Given the description of an element on the screen output the (x, y) to click on. 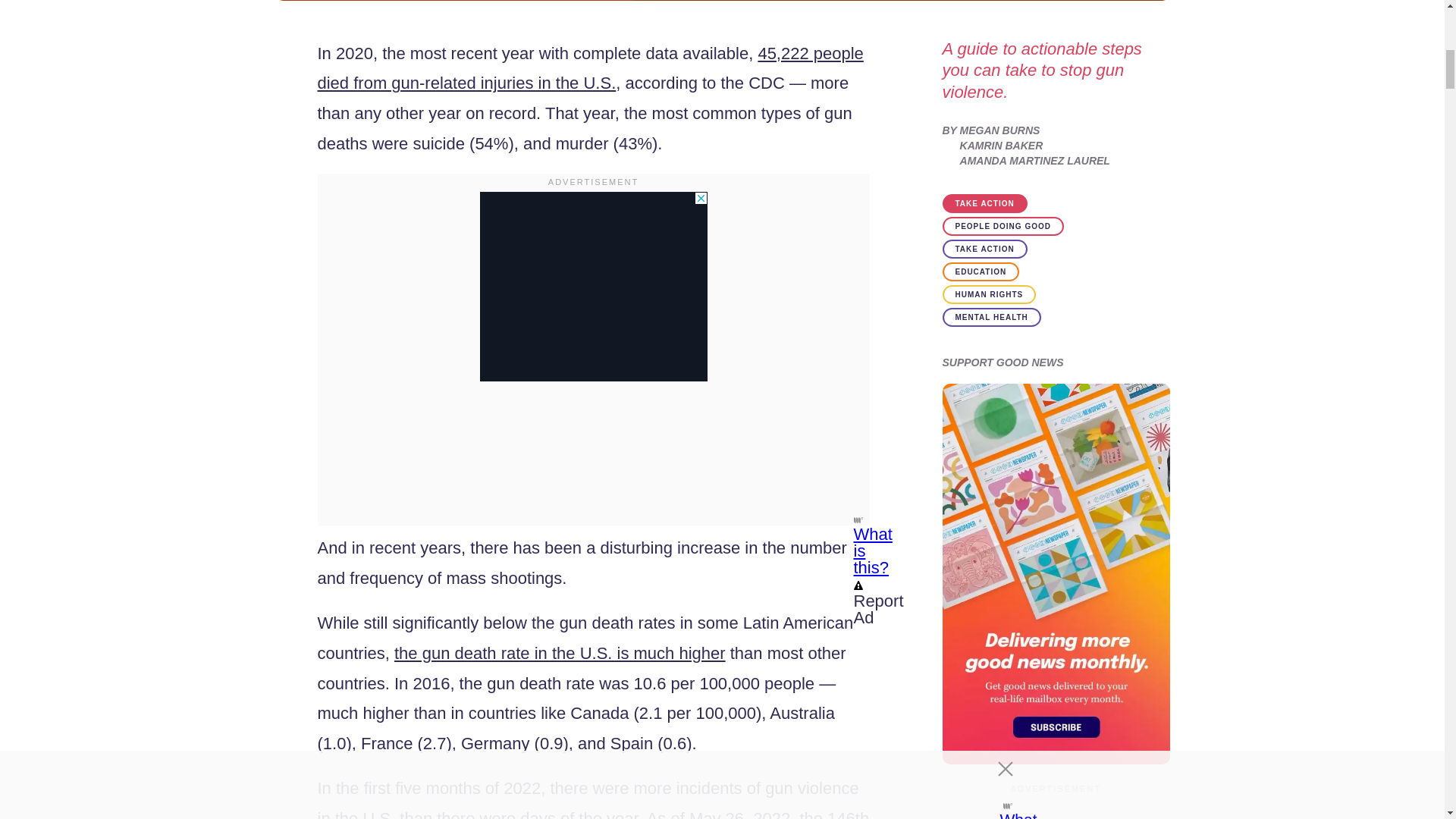
the gun death rate in the U.S. is much higher (559, 652)
45,222 people died from gun-related injuries in the U.S. (590, 68)
3rd party ad content (592, 286)
